Given the description of an element on the screen output the (x, y) to click on. 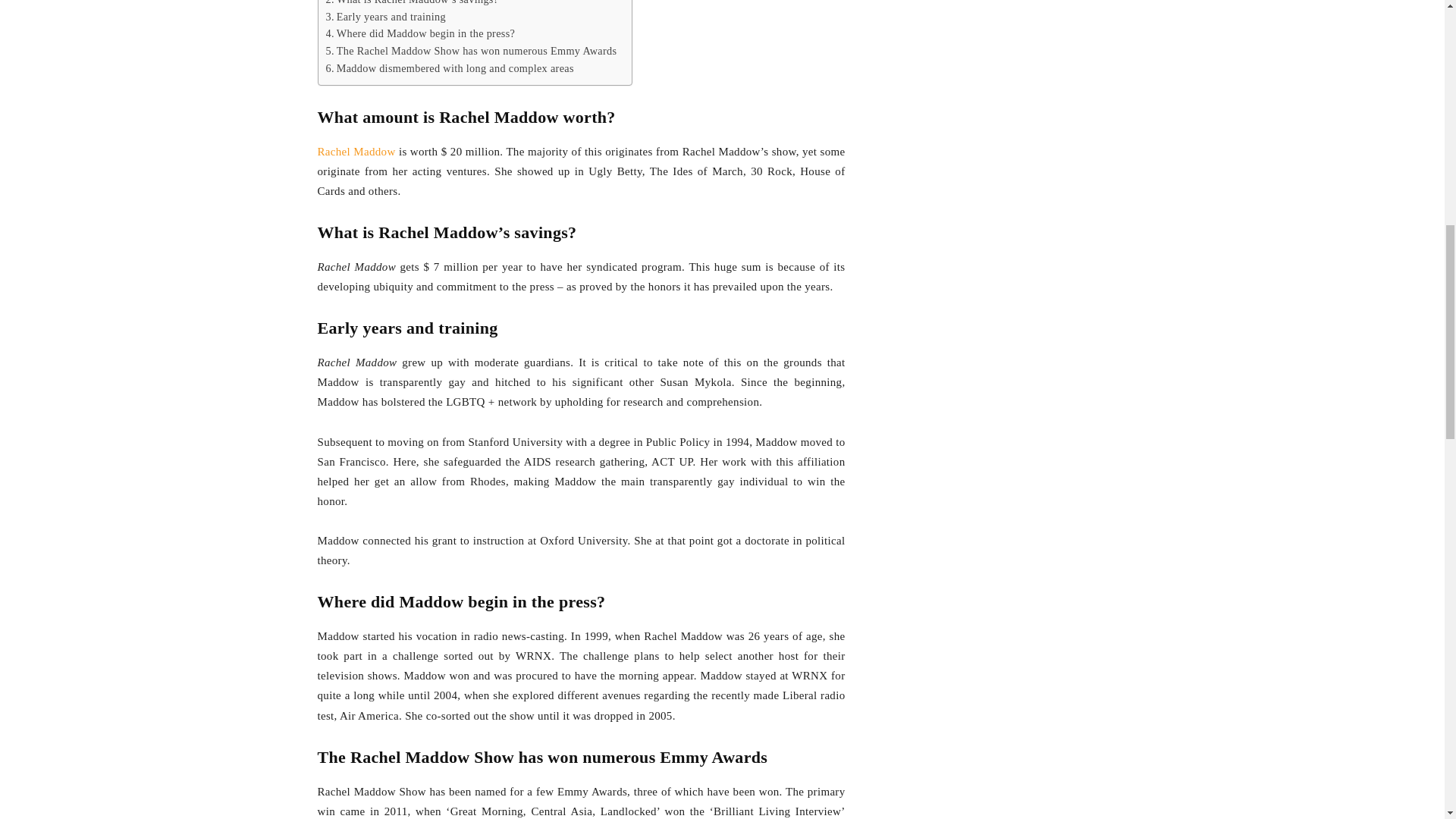
Maddow dismembered with long and complex areas (449, 67)
Maddow dismembered with long and complex areas (449, 67)
Where did Maddow begin in the press? (420, 33)
The Rachel Maddow Show has won numerous Emmy Awards (471, 50)
The Rachel Maddow Show has won numerous Emmy Awards (471, 50)
Where did Maddow begin in the press? (420, 33)
Early years and training (385, 16)
Rachel Maddow (355, 151)
Early years and training (385, 16)
